Given the description of an element on the screen output the (x, y) to click on. 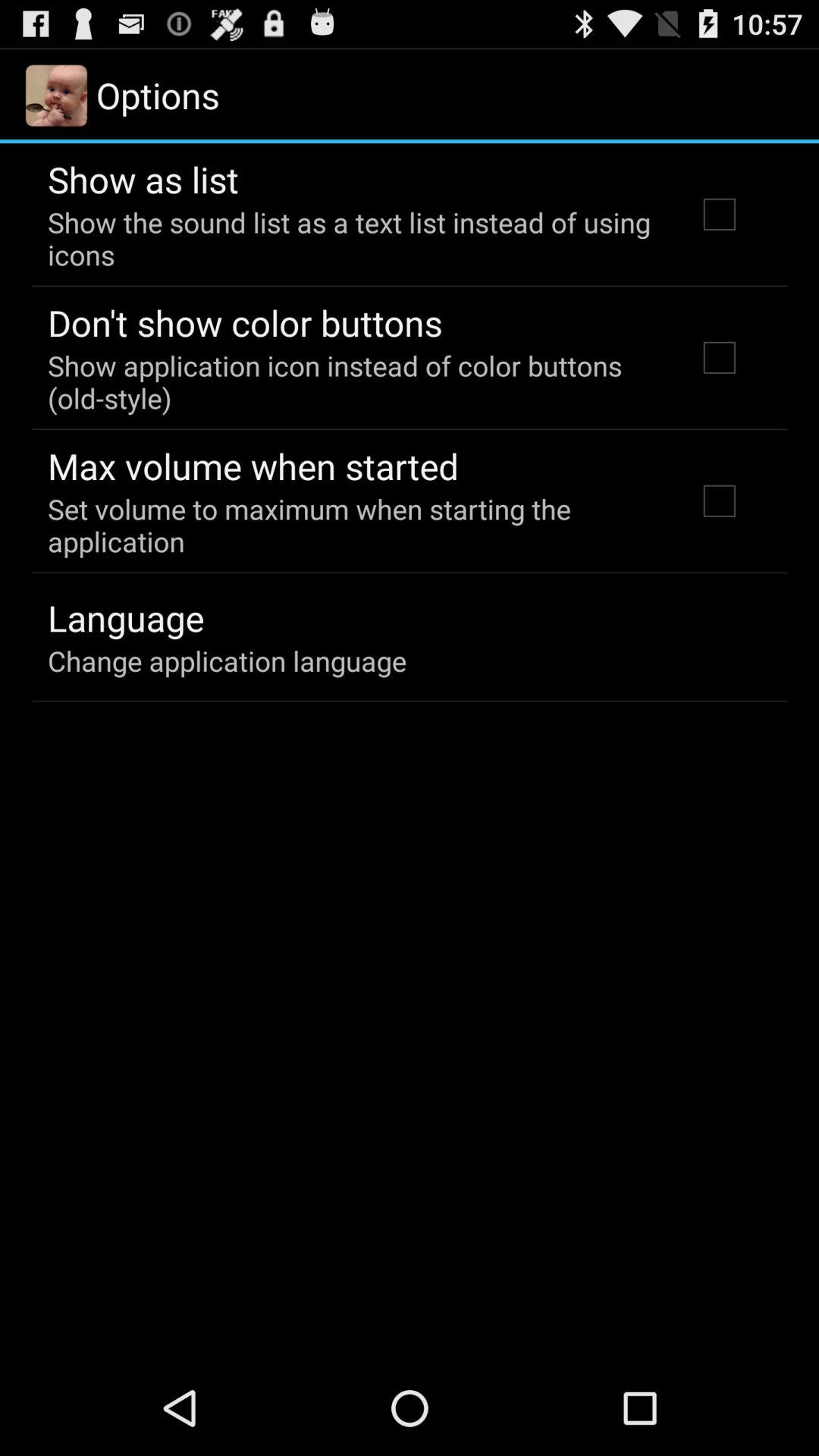
flip to the show application icon item (351, 381)
